Given the description of an element on the screen output the (x, y) to click on. 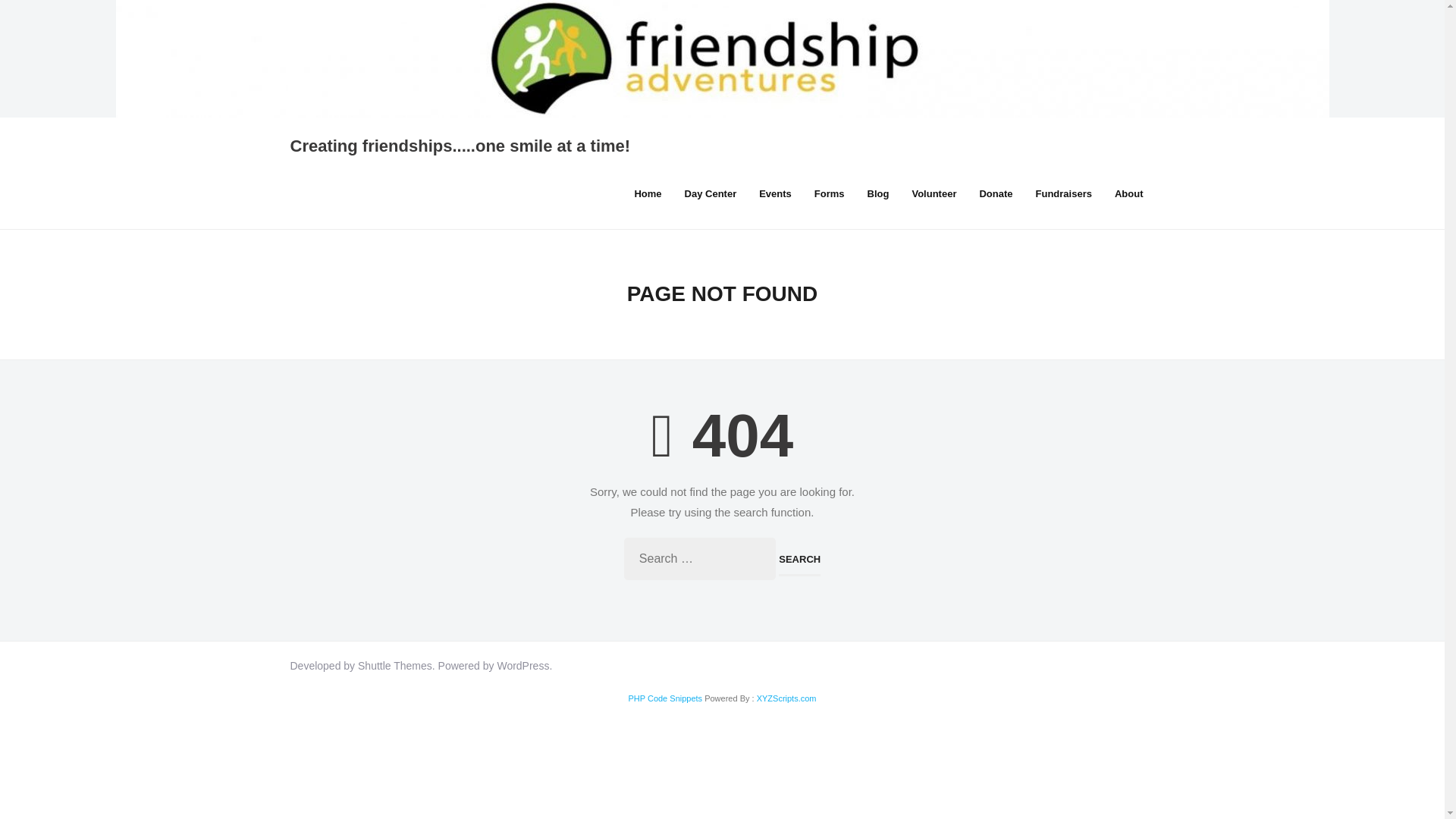
Search (799, 560)
Day Center (710, 193)
Search (799, 560)
Creating friendships.....one smile at a time! (459, 146)
Volunteer (933, 193)
Fundraisers (1064, 193)
Insert PHP Snippet Wordpress Plugin (664, 697)
